Given the description of an element on the screen output the (x, y) to click on. 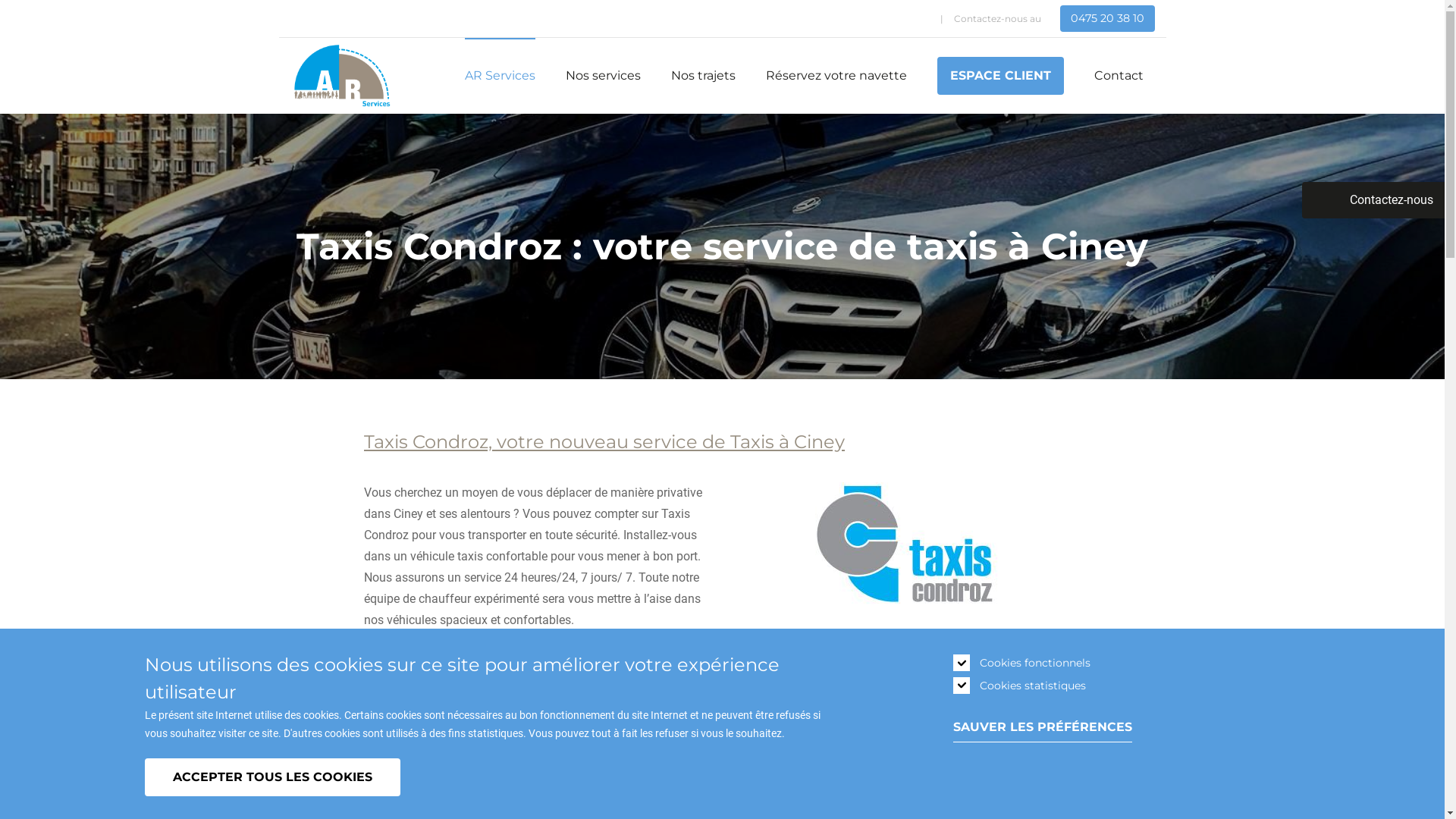
0475 20 38 10 Element type: text (1107, 18)
Contact Element type: text (1117, 75)
RETIRER LE CONSENTEMENT Element type: text (428, 769)
083/21.21.56 Element type: text (428, 680)
Contactez-nous Element type: text (1373, 200)
ESPACE CLIENT Element type: text (1000, 75)
Nos services Element type: text (602, 75)
ACCEPTER TOUS LES COOKIES Element type: text (271, 777)
